Given the description of an element on the screen output the (x, y) to click on. 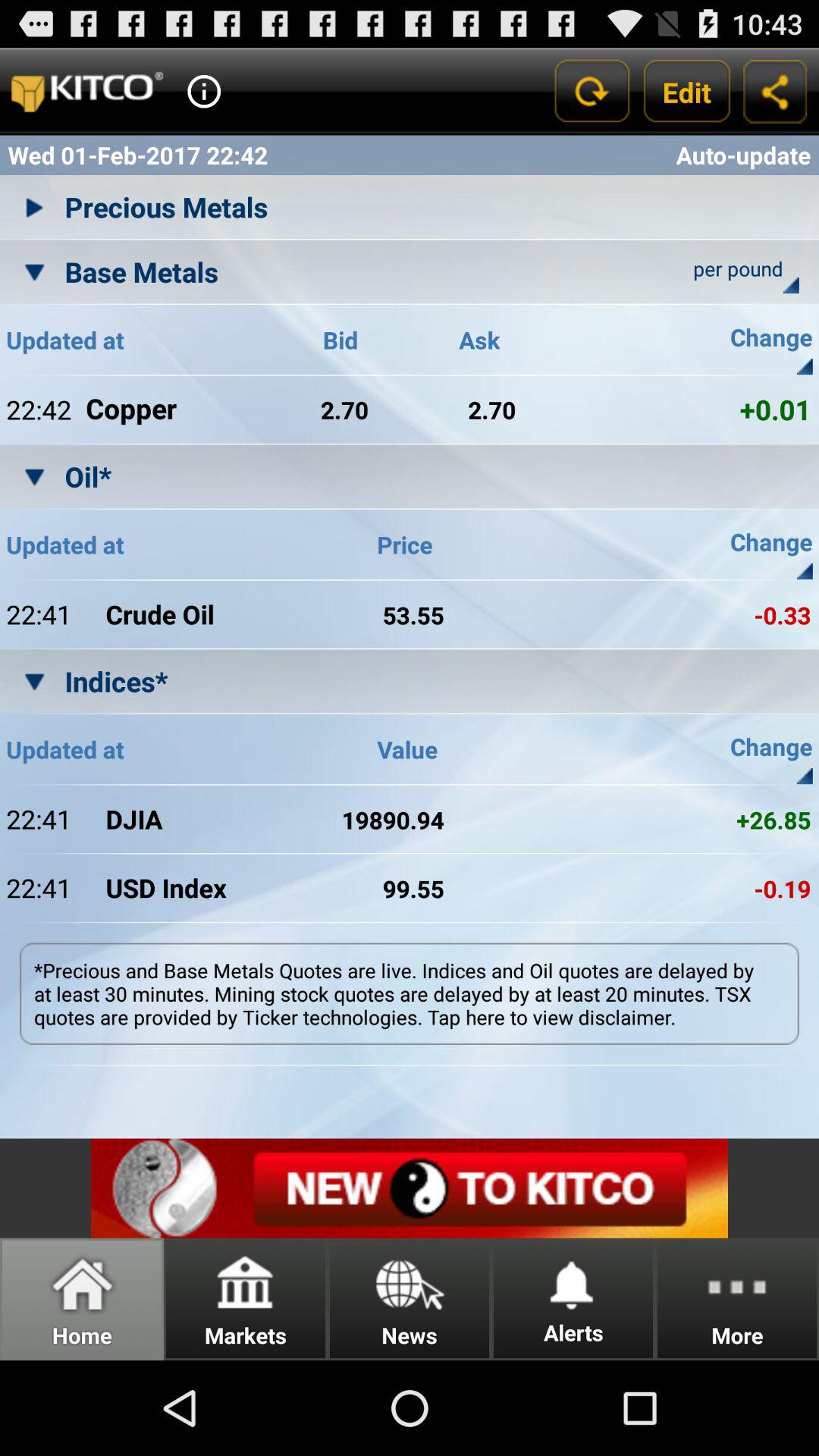
click on the down arrow left to indices (34, 681)
click on the down arrow left to base metals (34, 271)
click on icon above 001 (804, 366)
select the text above 033 (743, 544)
click on icon above alerts (572, 1282)
